Given the description of an element on the screen output the (x, y) to click on. 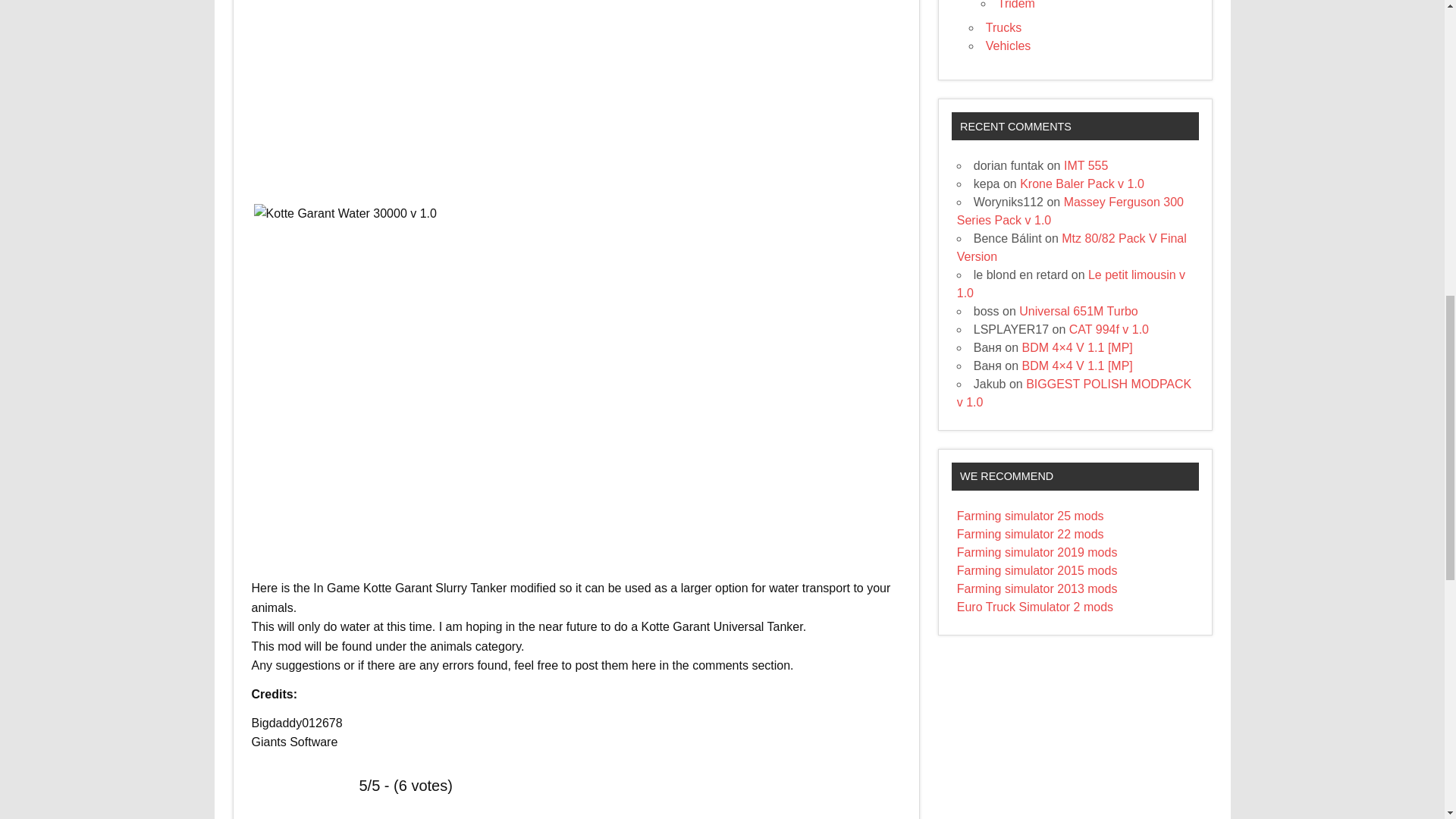
Farming simulator 2015 mods (1037, 570)
Euro Truck Simulator 2 mods (1034, 606)
Farming simulator 22 mods (1029, 533)
Farming simulator 2019 mods (1037, 552)
Farming simulator 2013 mods (1037, 588)
Farming simulator 25 mods (1029, 515)
